Given the description of an element on the screen output the (x, y) to click on. 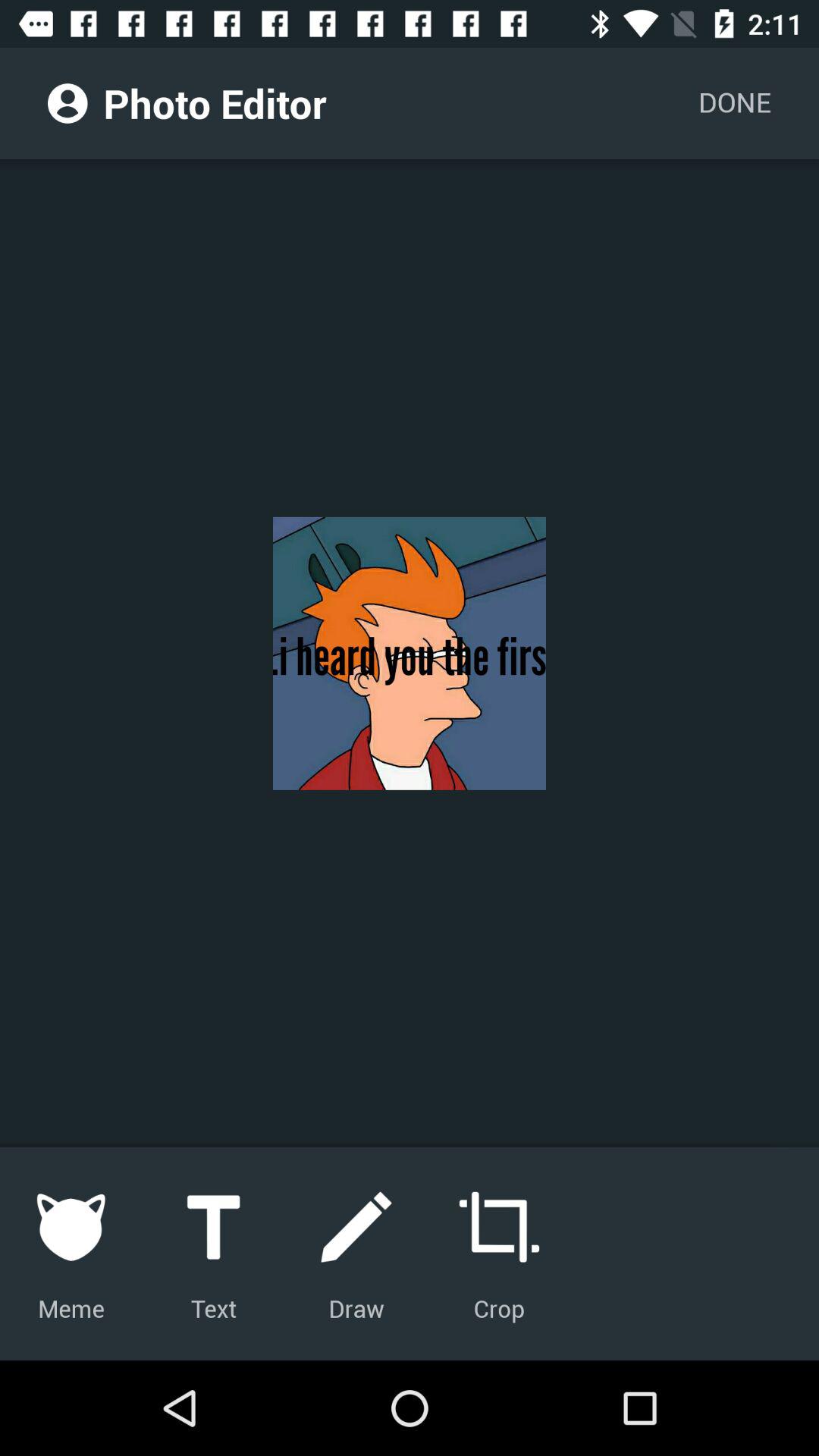
press the item to the right of photo editor icon (734, 103)
